Given the description of an element on the screen output the (x, y) to click on. 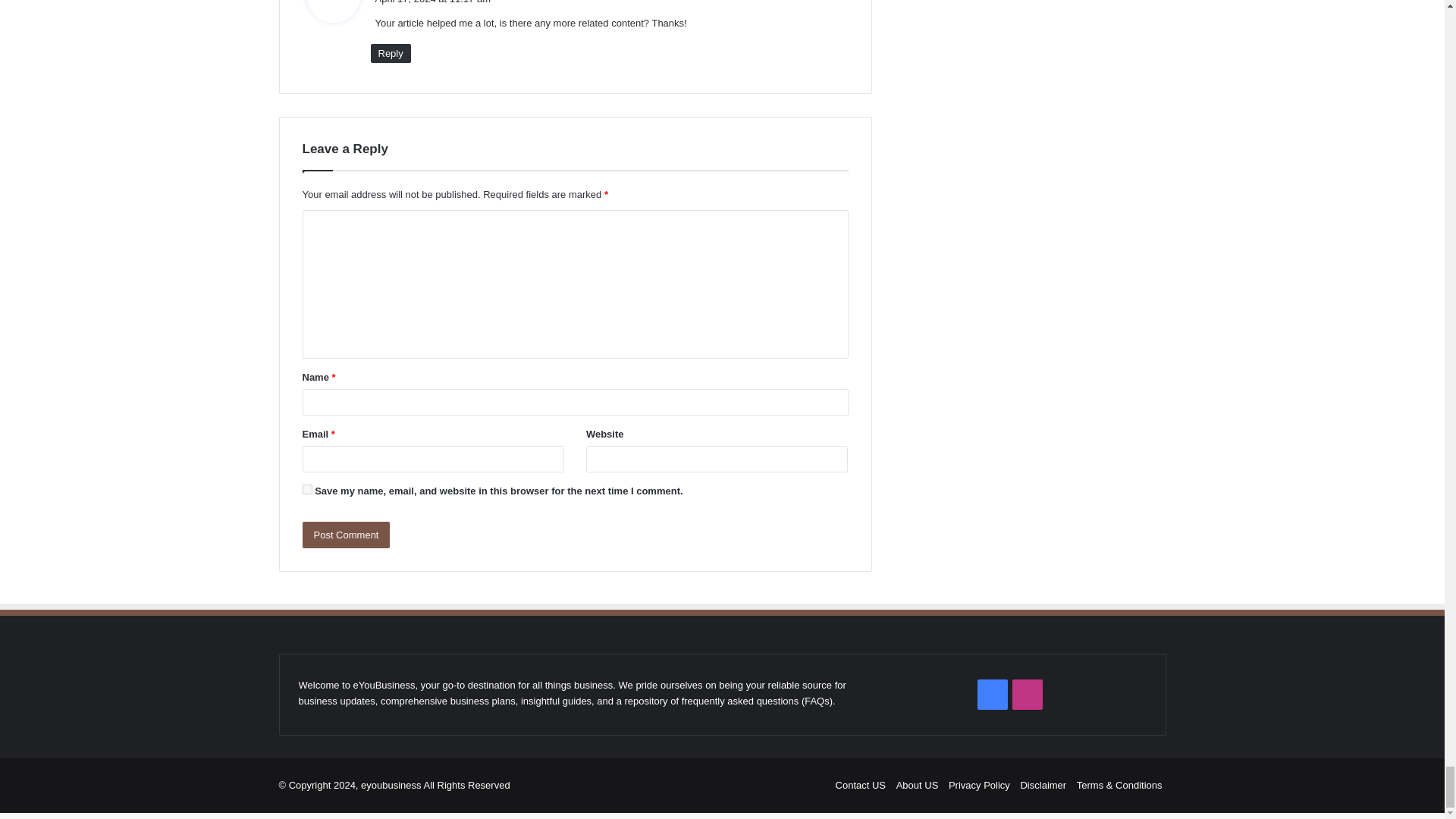
yes (306, 489)
Post Comment (345, 534)
